Given the description of an element on the screen output the (x, y) to click on. 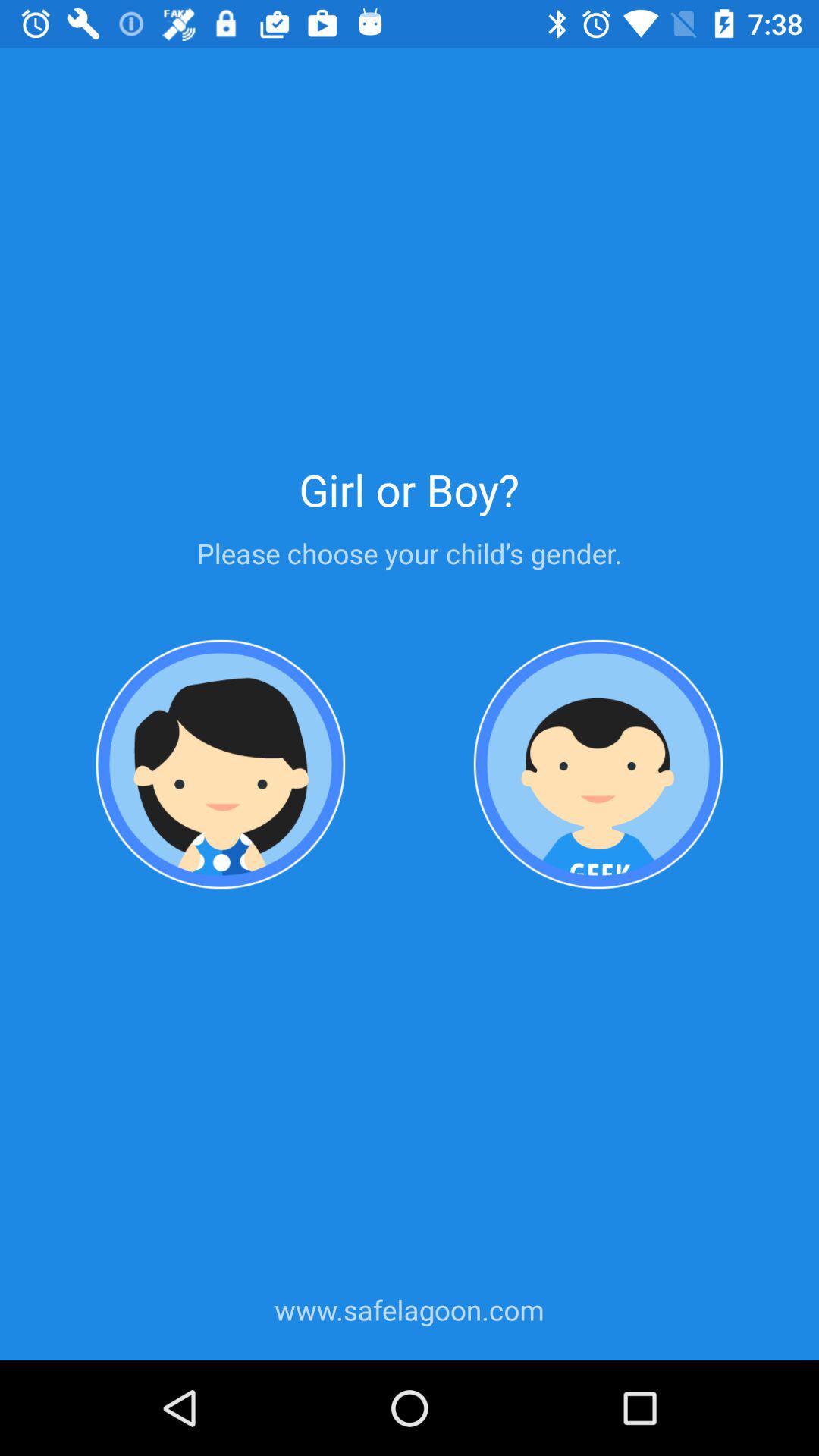
select gender (598, 765)
